Given the description of an element on the screen output the (x, y) to click on. 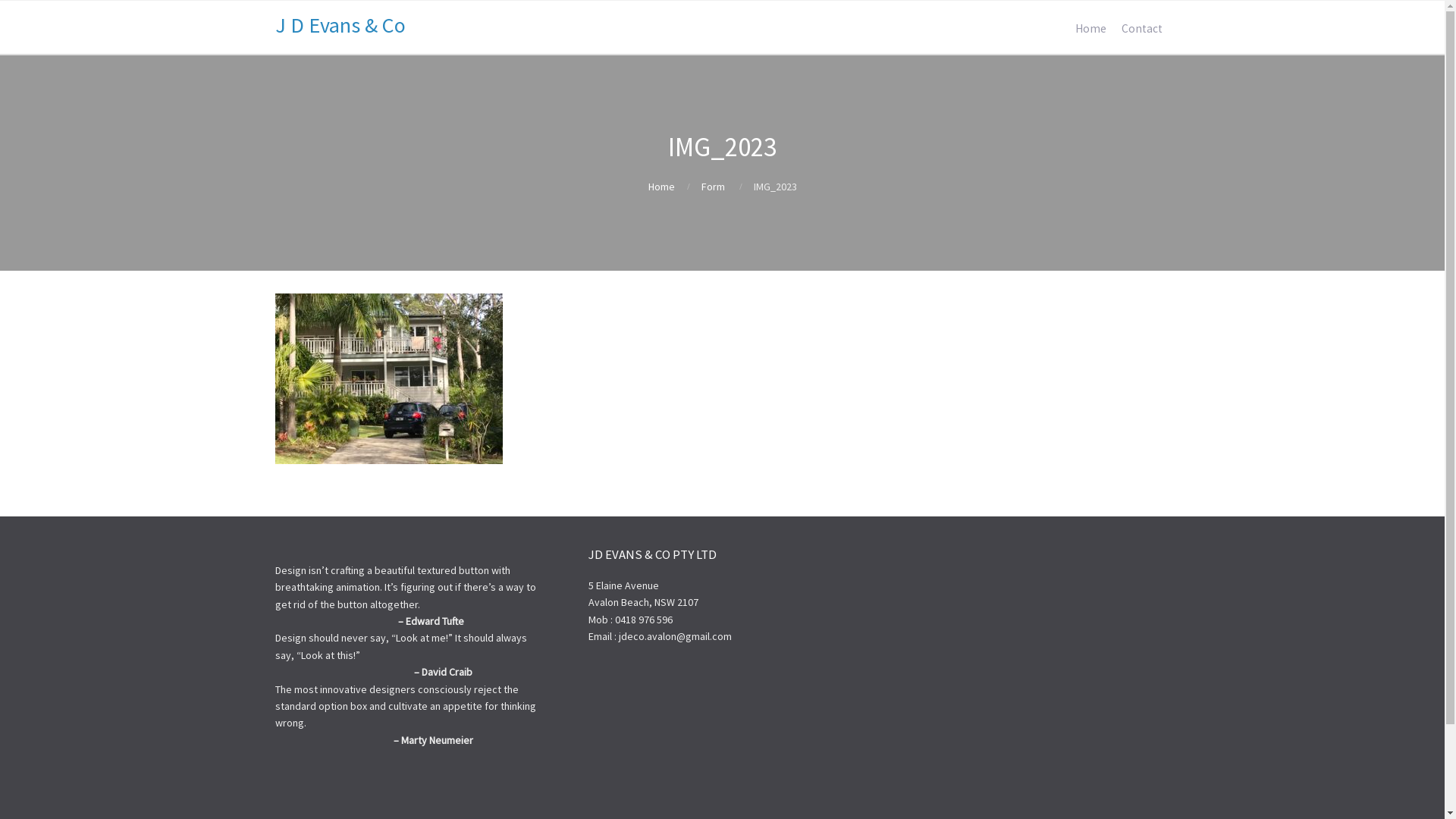
Home Element type: text (660, 186)
Home Element type: text (1090, 29)
Form Element type: text (712, 186)
J D Evans & Co Element type: text (339, 24)
Contact Element type: text (1141, 29)
